Given the description of an element on the screen output the (x, y) to click on. 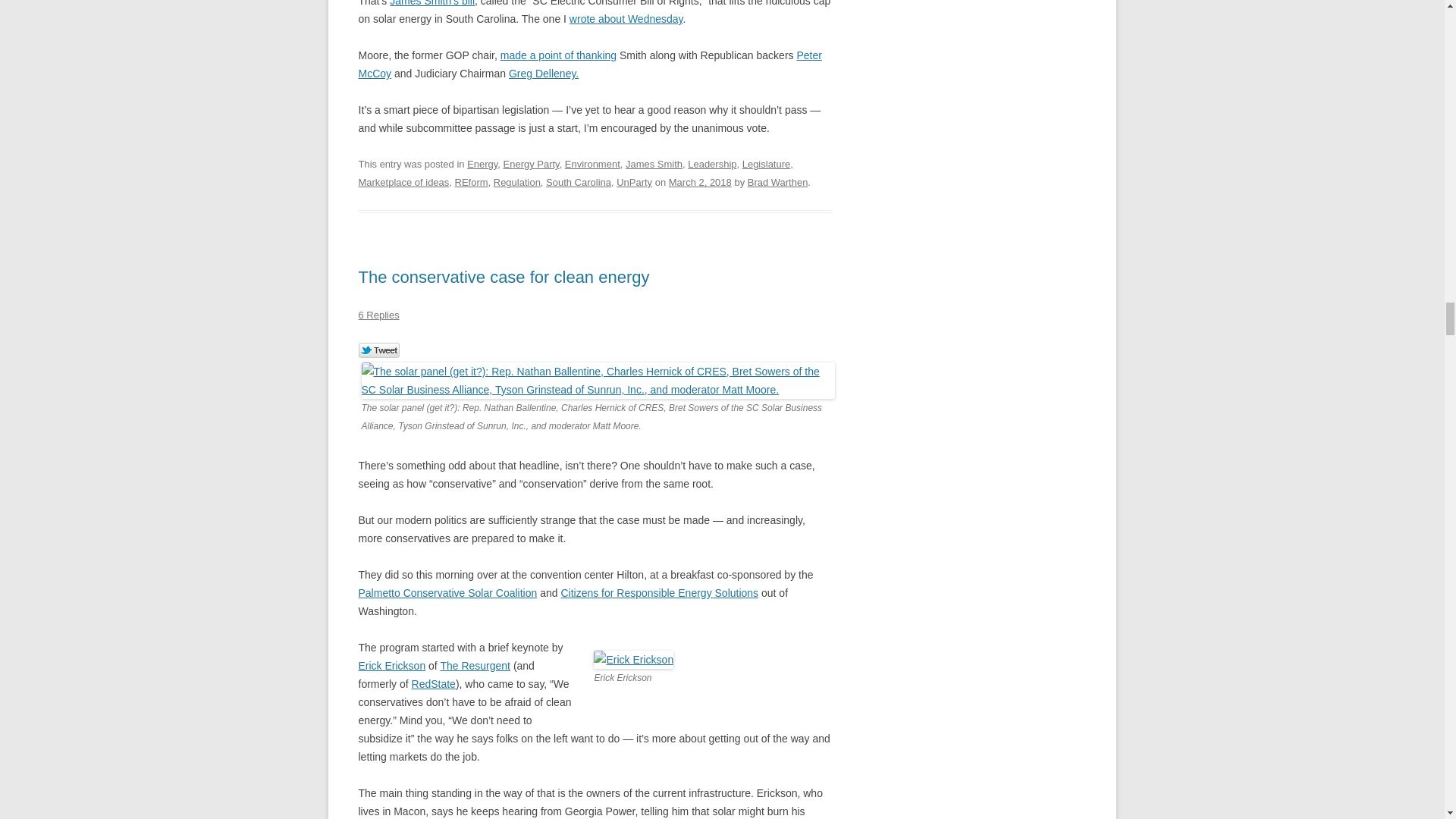
12:24 pm (700, 182)
